Given the description of an element on the screen output the (x, y) to click on. 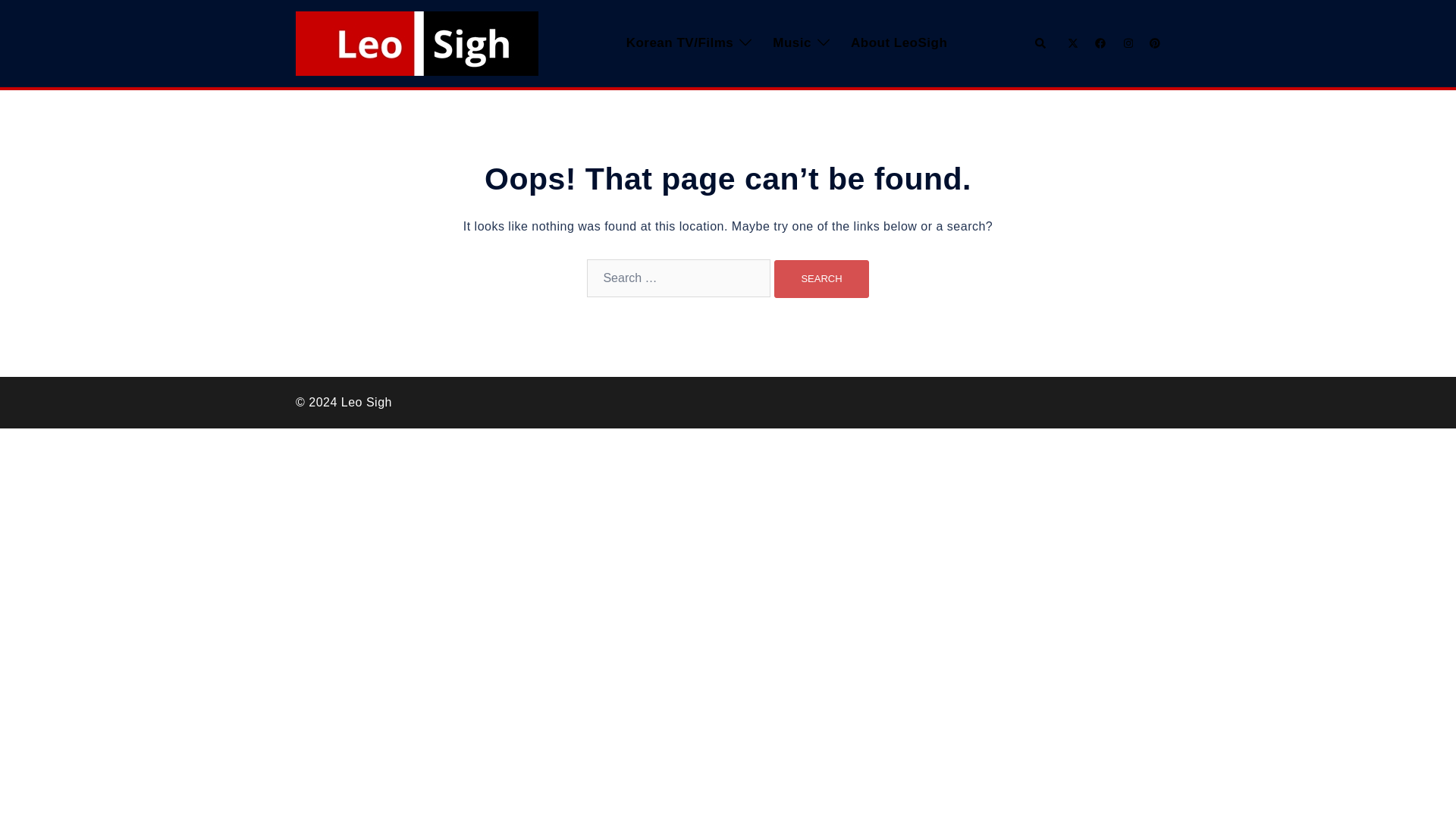
Leo Sigh (416, 42)
About LeoSigh (898, 43)
Search (820, 279)
Music (791, 43)
Search (1040, 42)
Search (820, 279)
Search (820, 279)
